Given the description of an element on the screen output the (x, y) to click on. 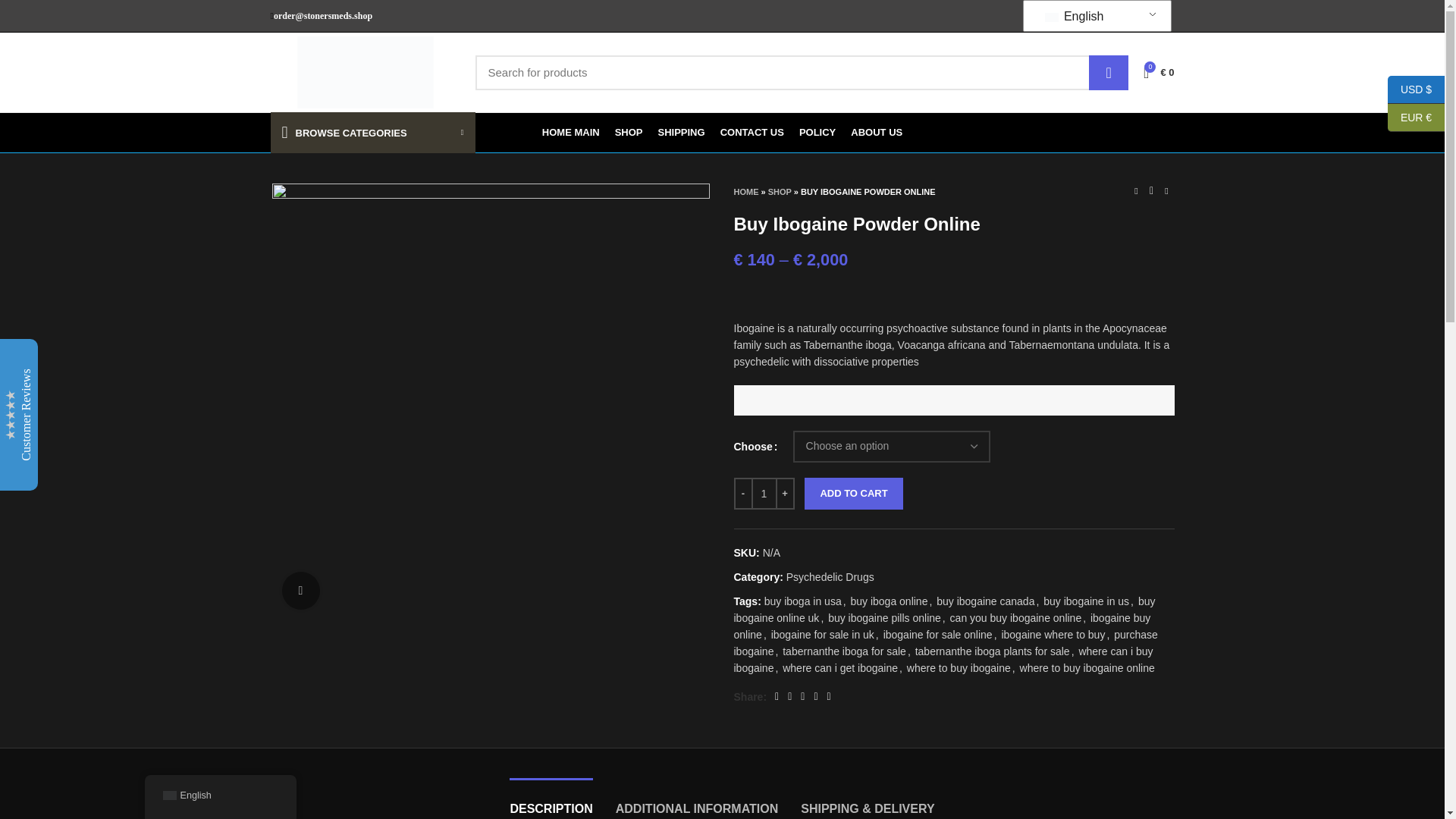
English (1051, 17)
English (1093, 16)
SEARCH (1108, 71)
English (1093, 16)
